Given the description of an element on the screen output the (x, y) to click on. 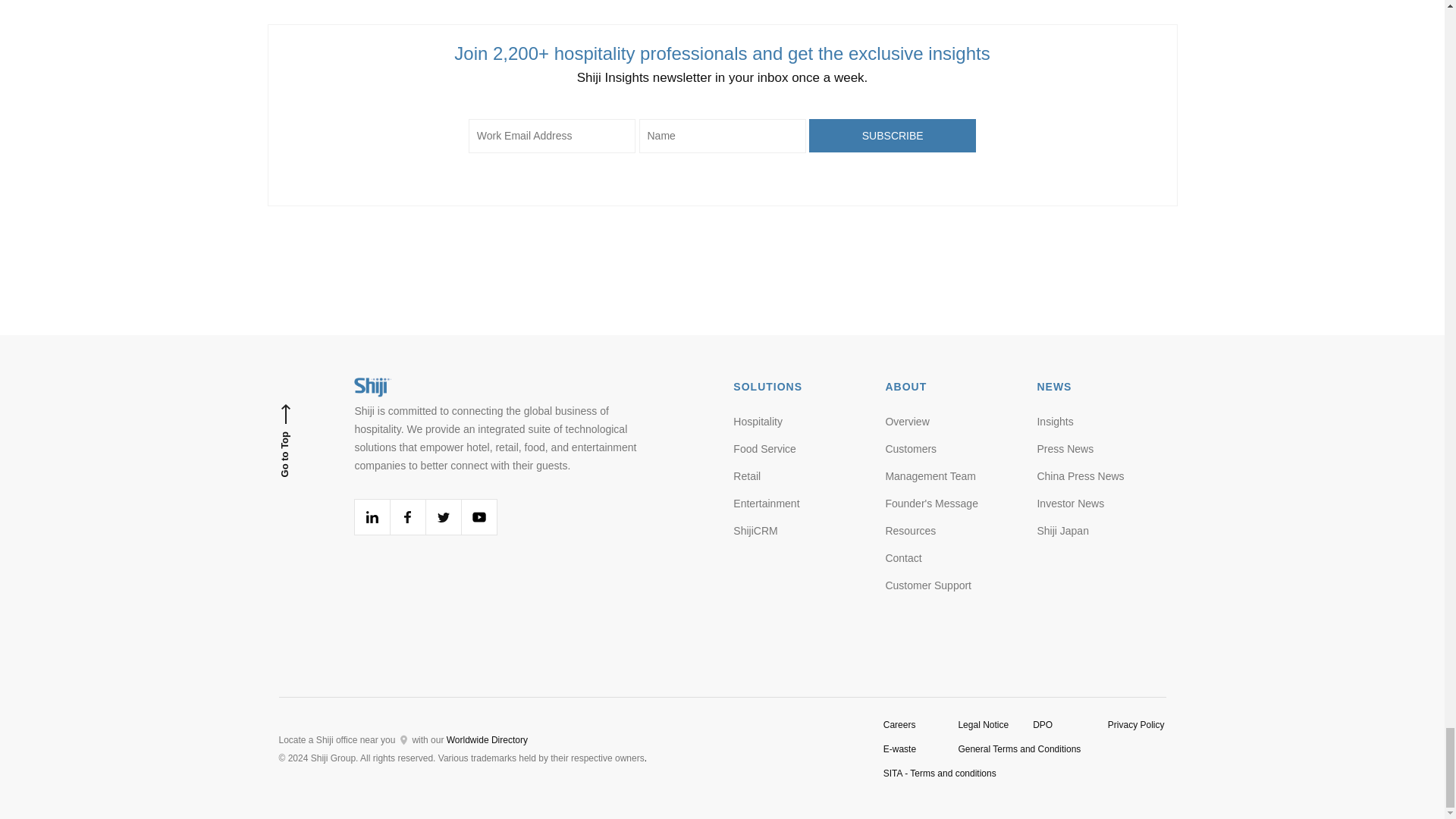
SUBSCRIBE (892, 135)
Go to Top (307, 439)
